Given the description of an element on the screen output the (x, y) to click on. 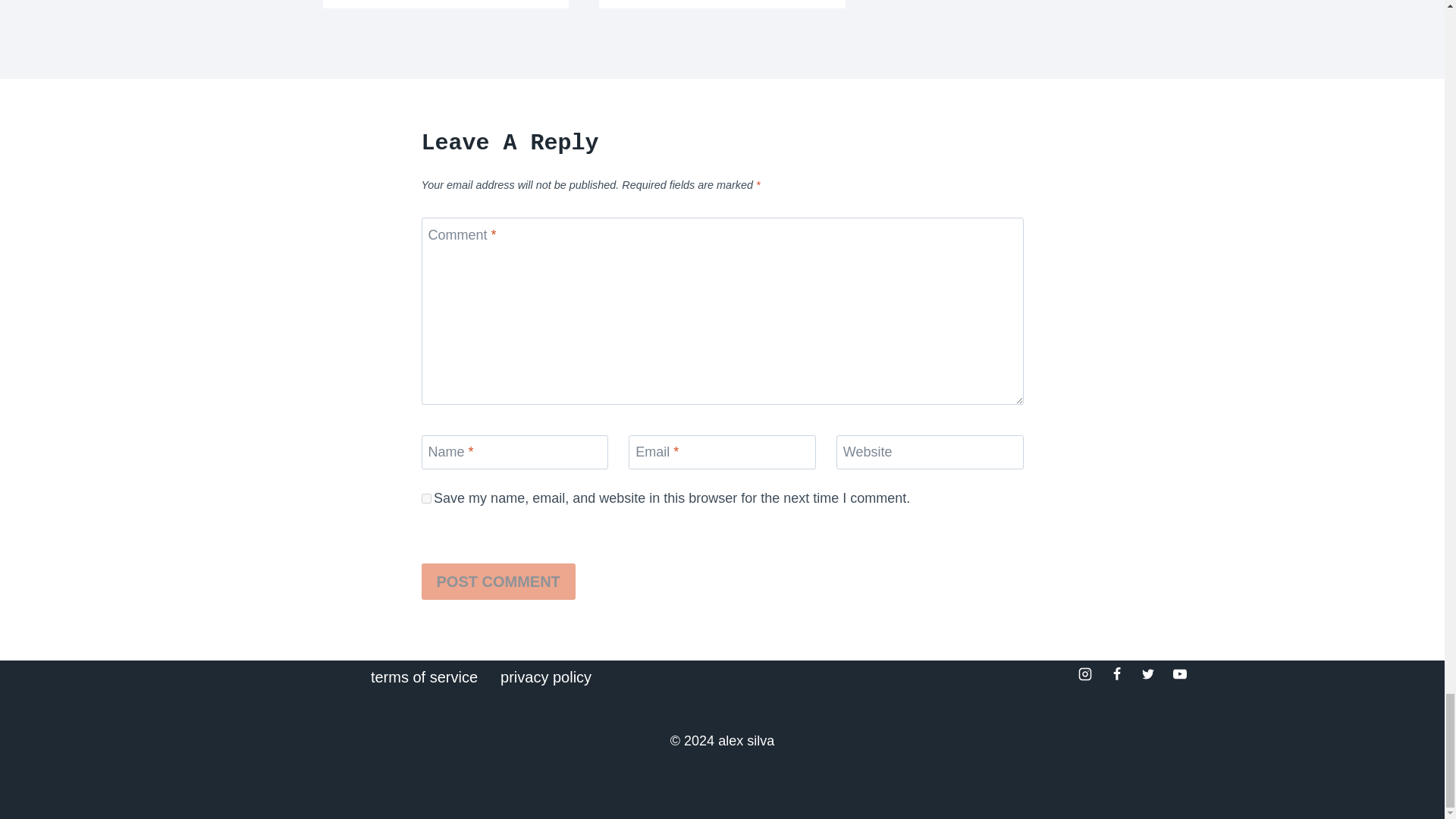
yes (426, 498)
Post Comment (498, 581)
